Given the description of an element on the screen output the (x, y) to click on. 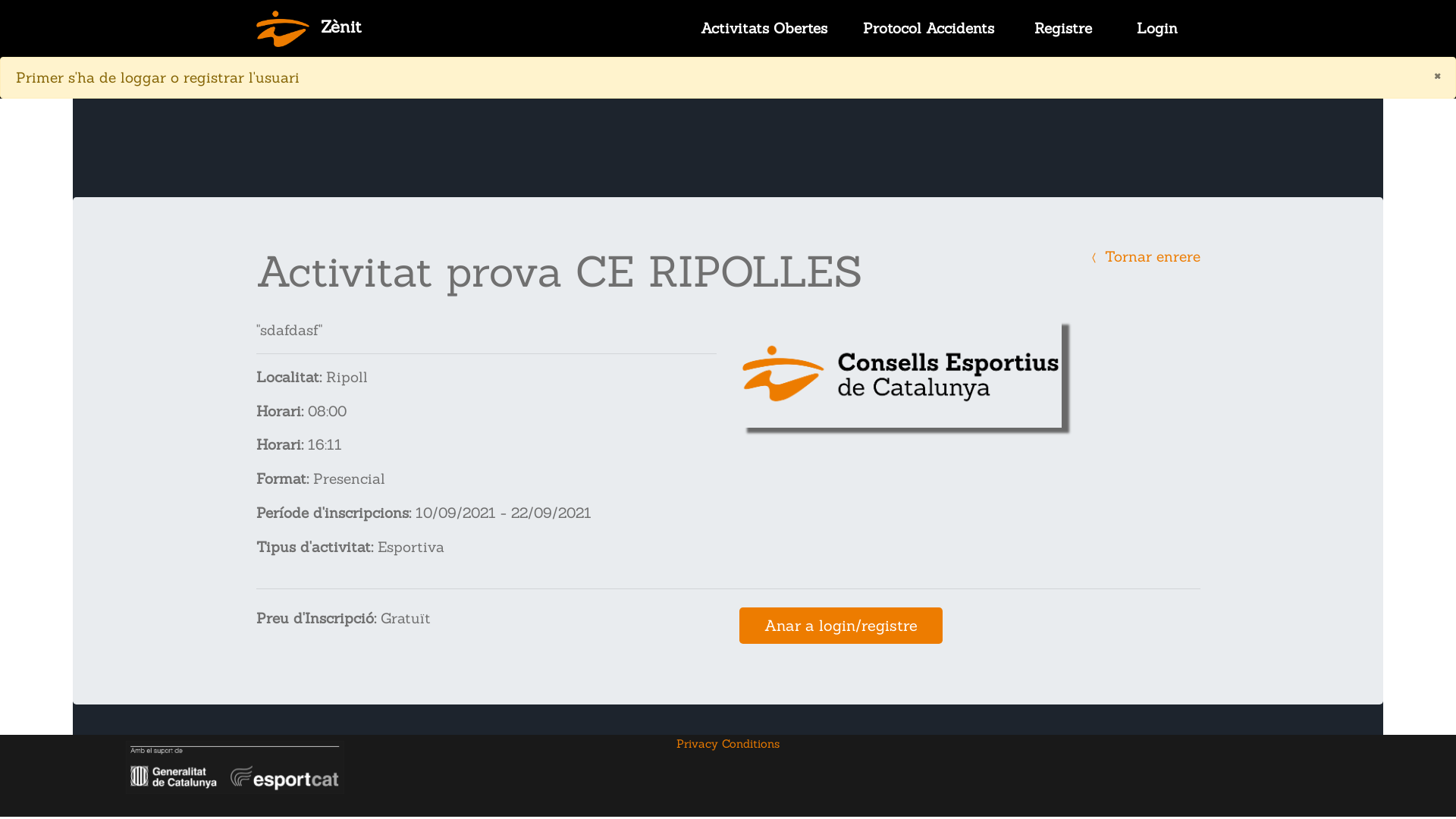
Tornar enrere Element type: text (1143, 256)
Anar a login/registre Element type: text (840, 625)
Privacy Conditions Element type: text (727, 743)
Protocol Accidents Element type: text (928, 28)
Activitats Obertes Element type: text (763, 28)
Registre Element type: text (1063, 28)
Login Element type: text (1156, 28)
